Given the description of an element on the screen output the (x, y) to click on. 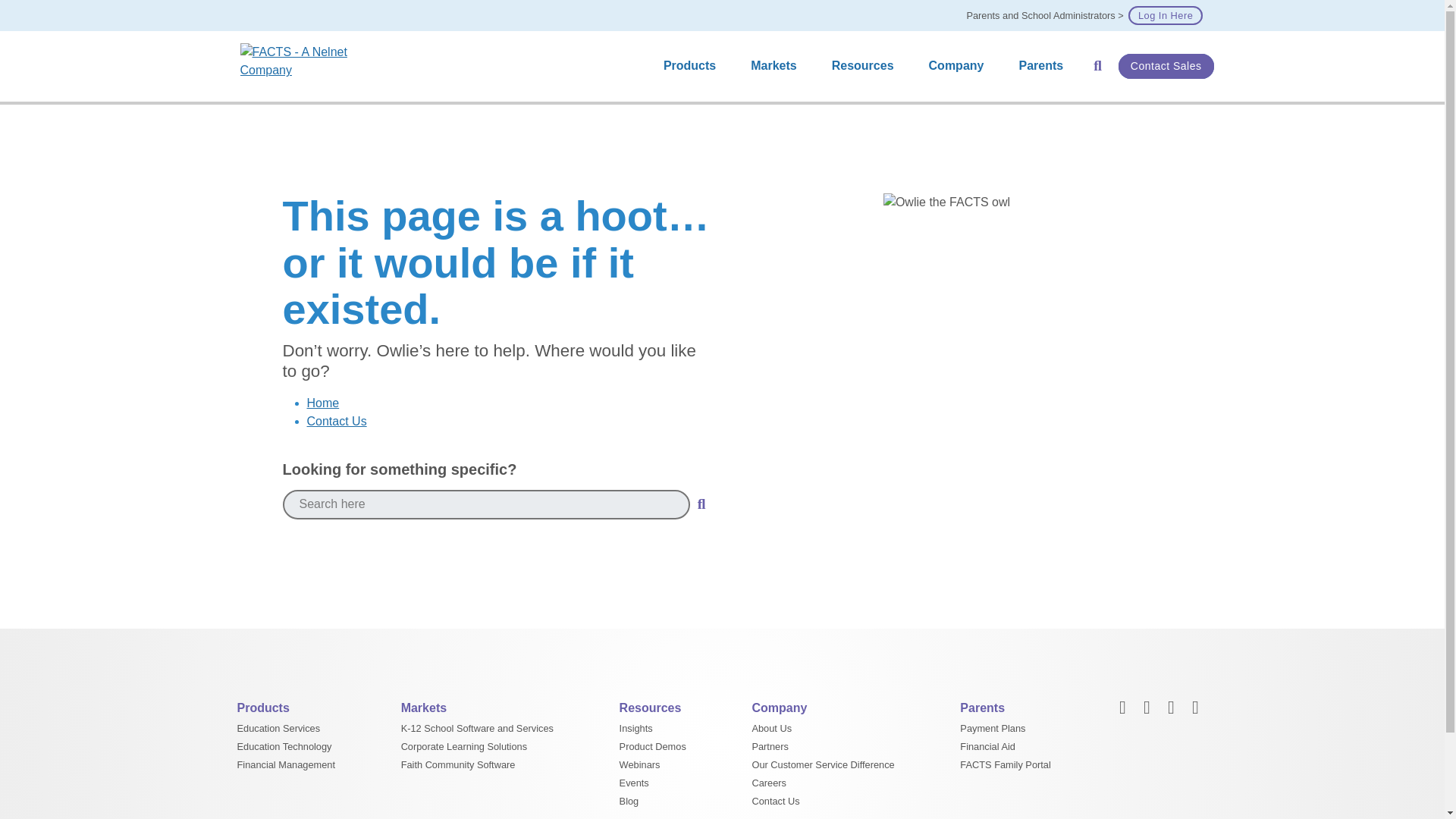
Markets (776, 66)
Resources (866, 66)
Products (692, 66)
Company (960, 66)
Log In Here (1165, 15)
